Given the description of an element on the screen output the (x, y) to click on. 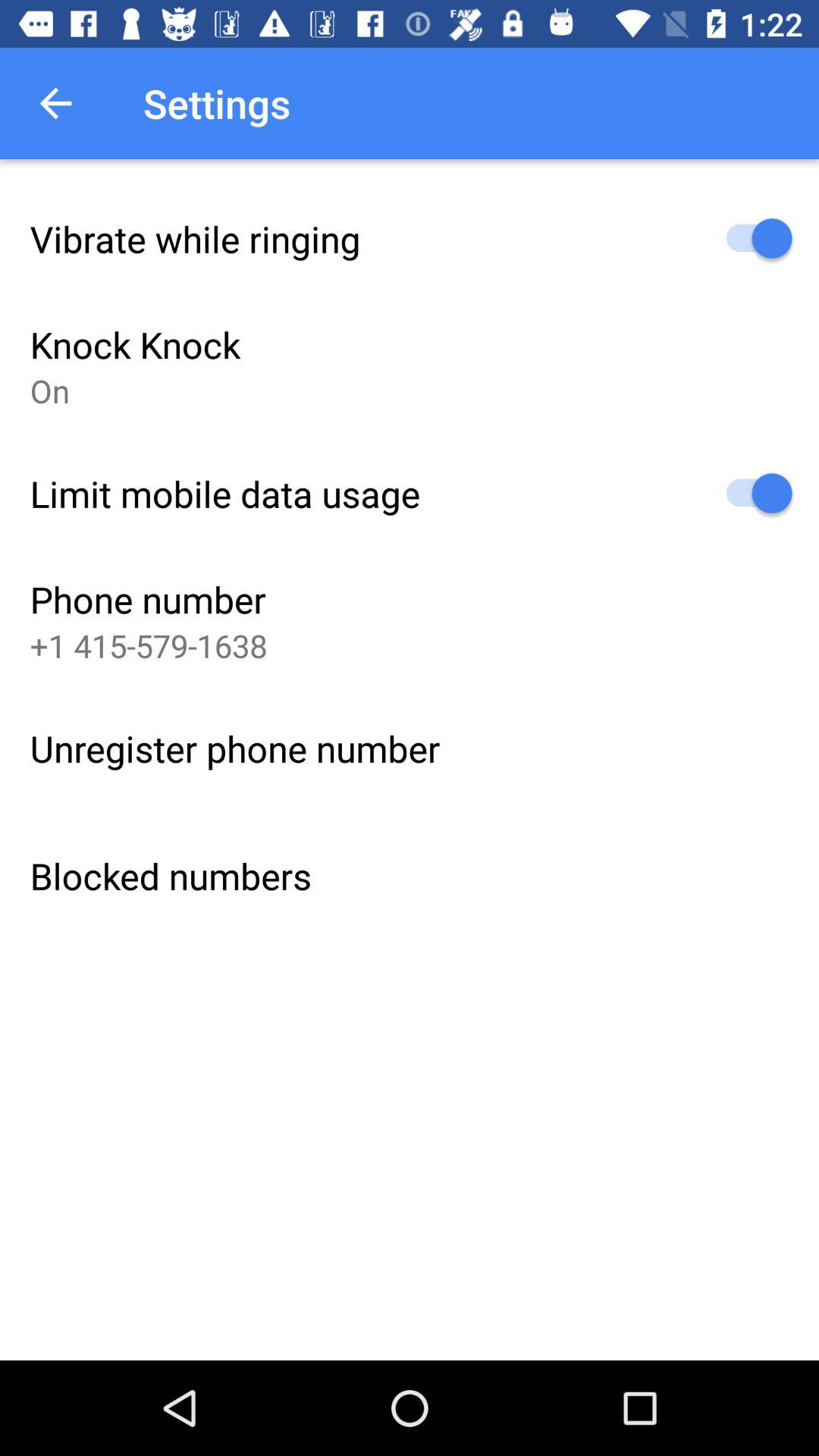
swipe until 1 415 579 icon (148, 645)
